Given the description of an element on the screen output the (x, y) to click on. 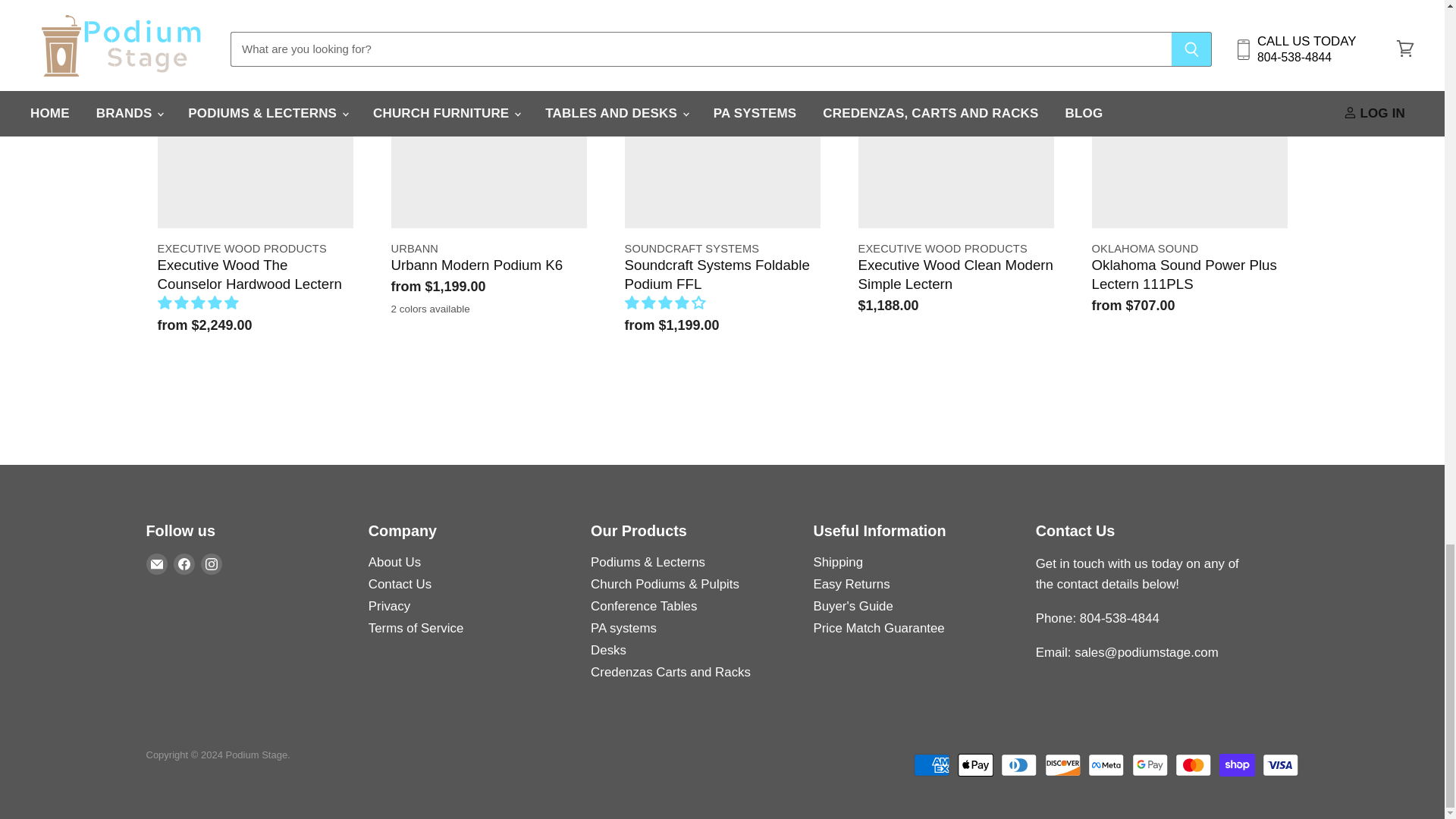
E-mail (156, 564)
Instagram (210, 564)
Facebook (183, 564)
